Given the description of an element on the screen output the (x, y) to click on. 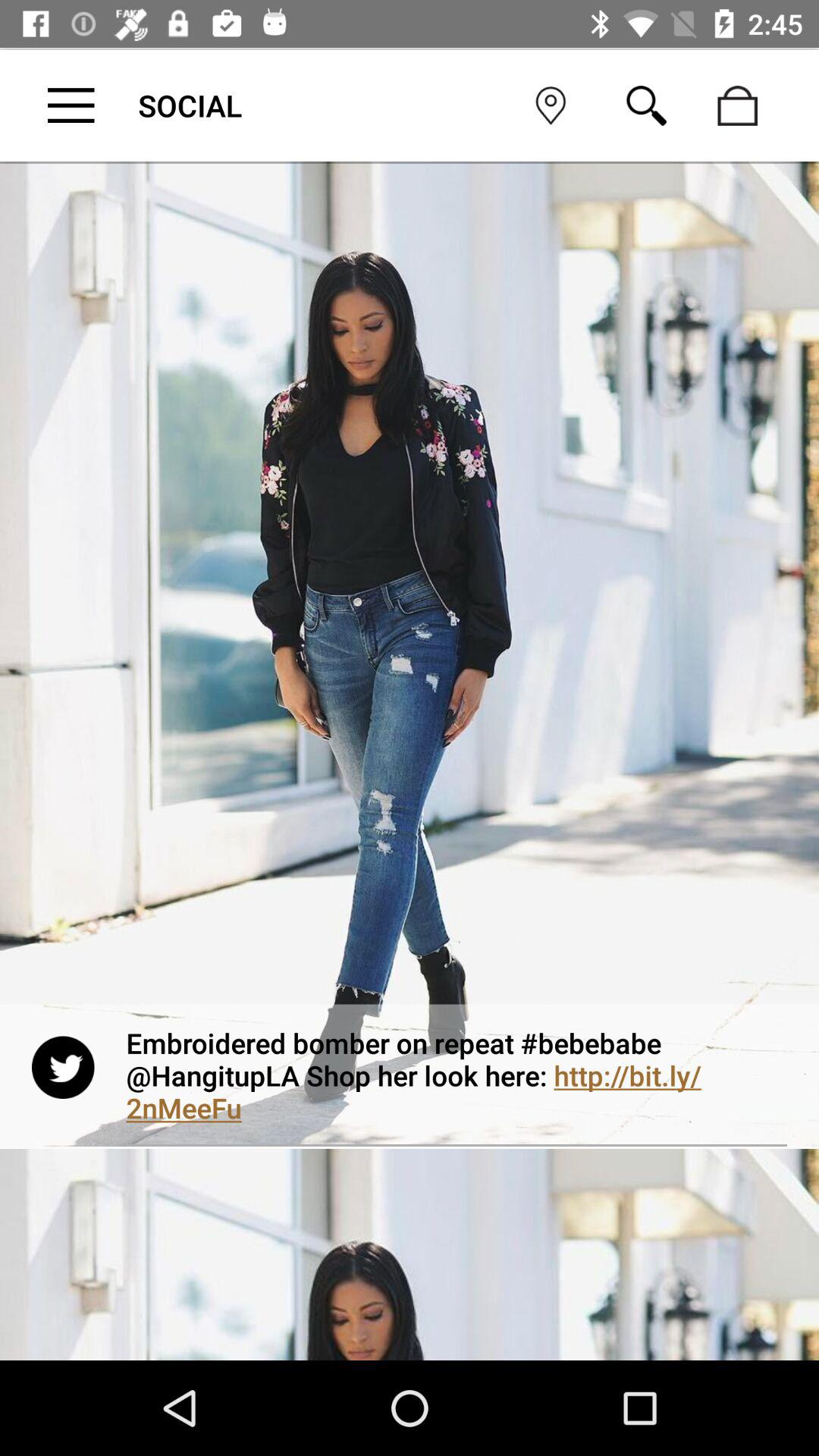
go to menu button (70, 105)
